Given the description of an element on the screen output the (x, y) to click on. 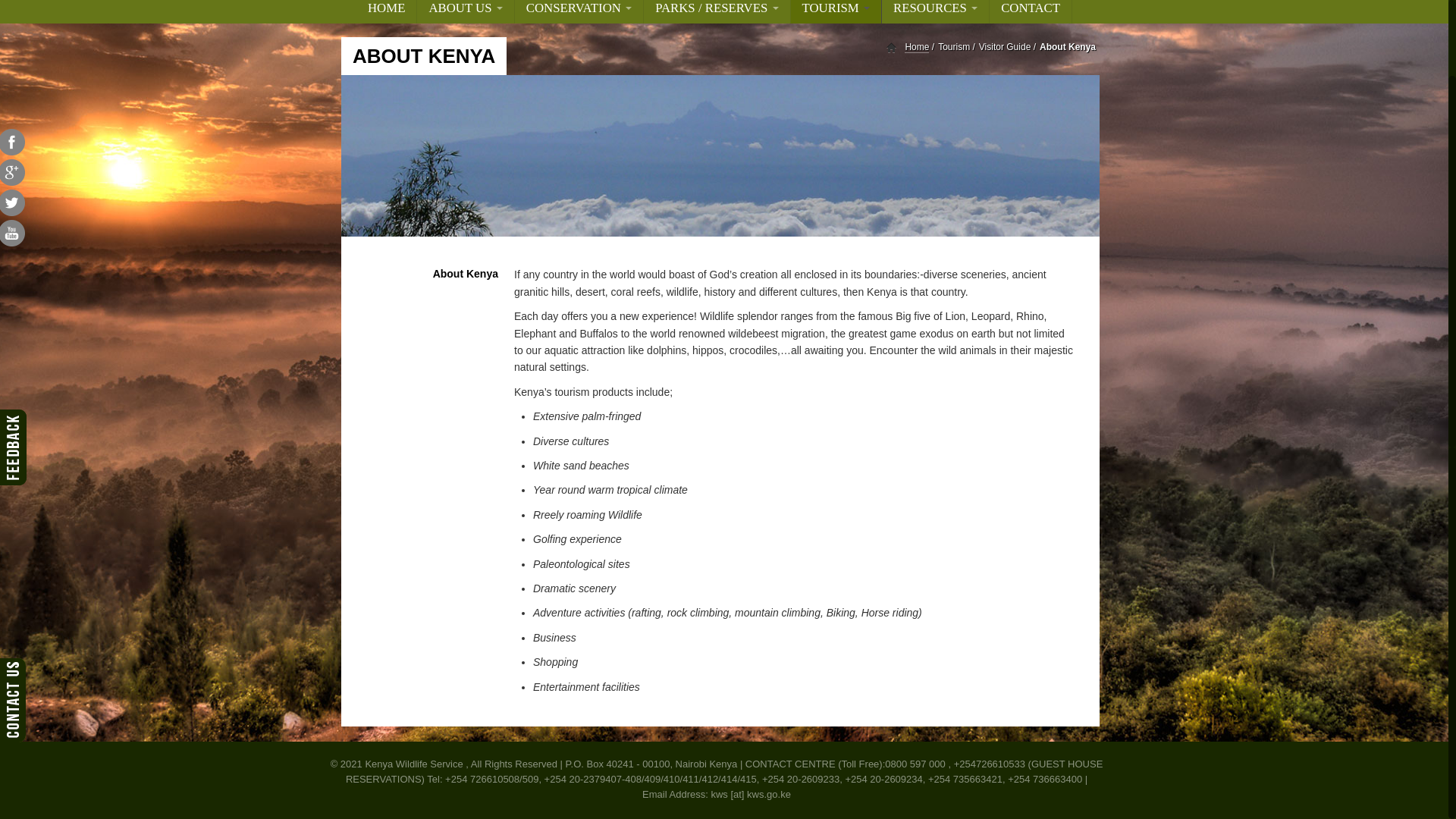
CONSERVATION (579, 11)
HOME (386, 11)
ABOUT US (464, 11)
